Given the description of an element on the screen output the (x, y) to click on. 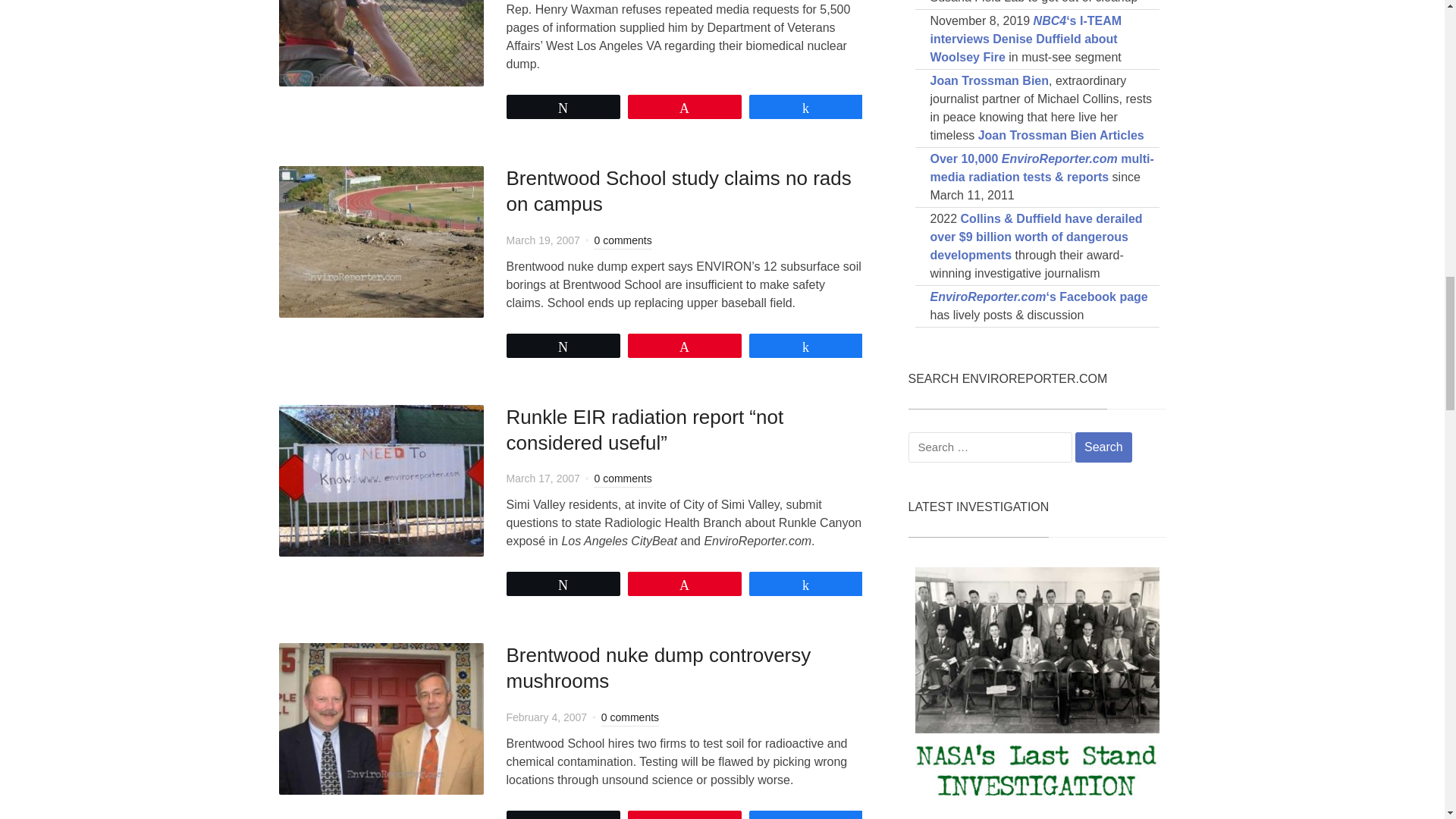
Brentwood School study claims no rads on campus (381, 240)
Brentwood nuke dump controversy mushrooms (381, 717)
Waxman waffles on nuke dump (381, 10)
Search (1103, 447)
Search (1103, 447)
